Given the description of an element on the screen output the (x, y) to click on. 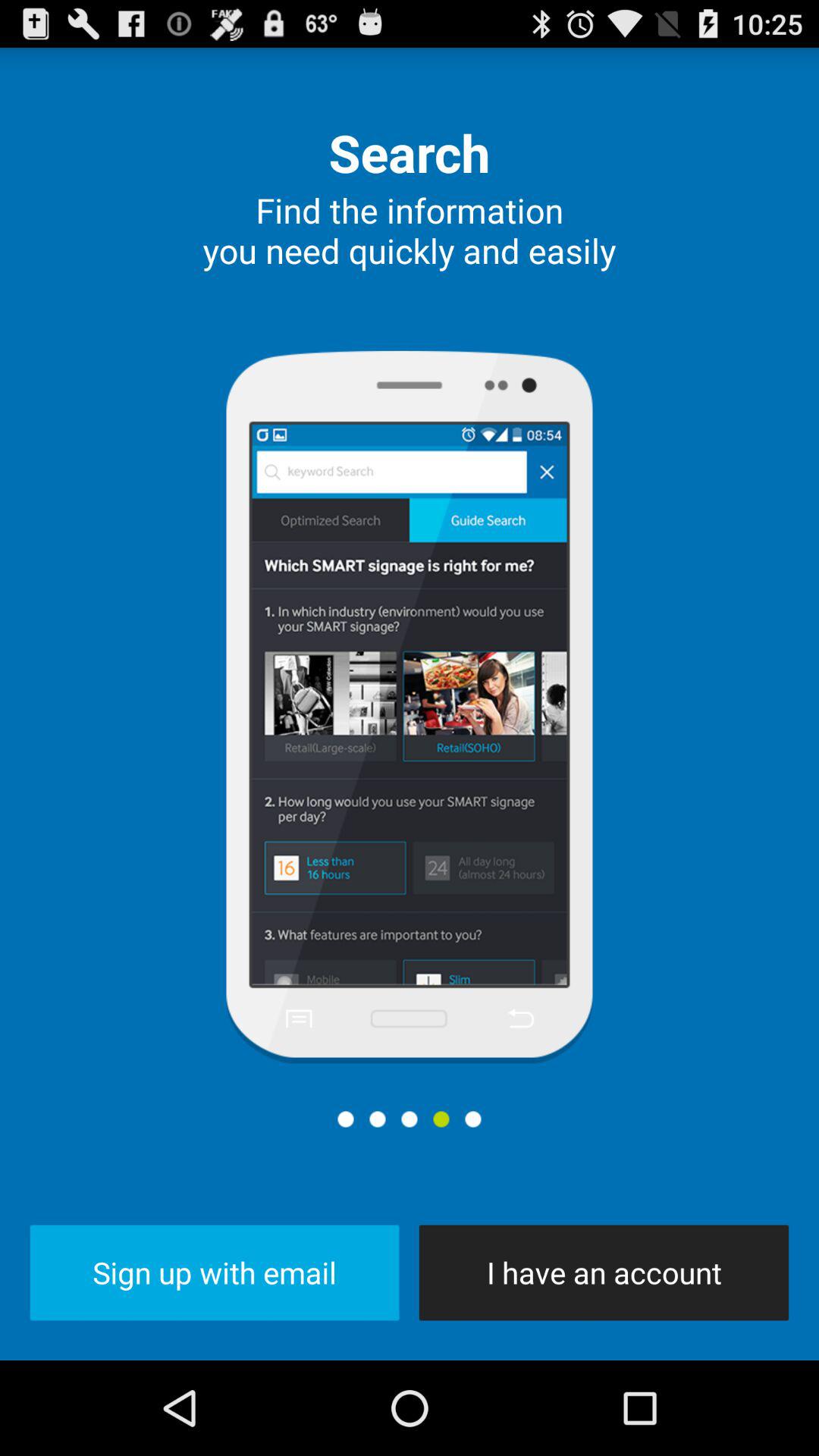
click button to the left of the i have an icon (214, 1272)
